Given the description of an element on the screen output the (x, y) to click on. 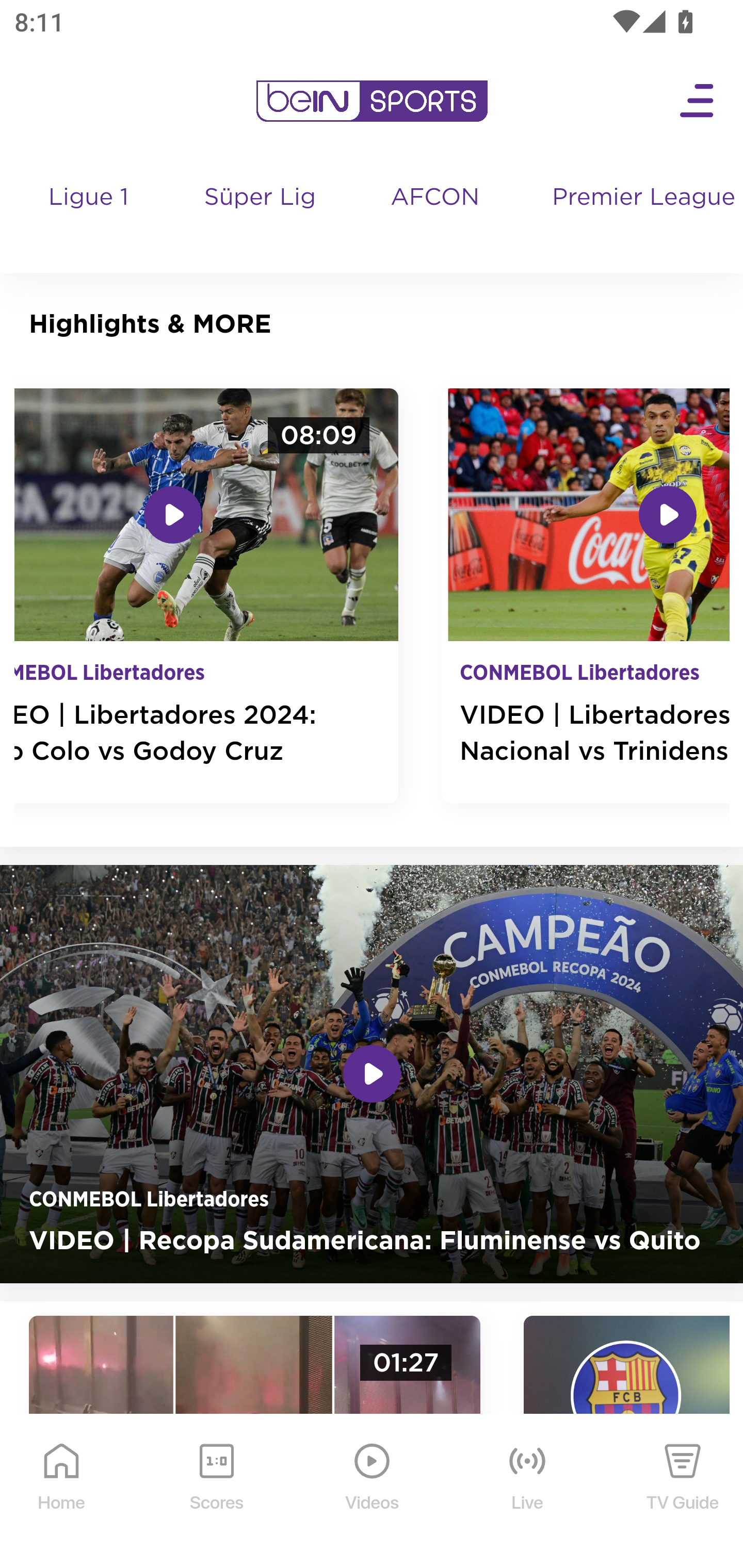
en-us?platform=mobile_android bein logo (371, 101)
Open Menu Icon (697, 101)
Ligue 1 (89, 216)
Süper Lig (260, 216)
AFCON (434, 198)
Premier League (639, 198)
Home Home Icon Home (61, 1491)
Scores Scores Icon Scores (216, 1491)
Videos Videos Icon Videos (372, 1491)
TV Guide TV Guide Icon TV Guide (682, 1491)
